Given the description of an element on the screen output the (x, y) to click on. 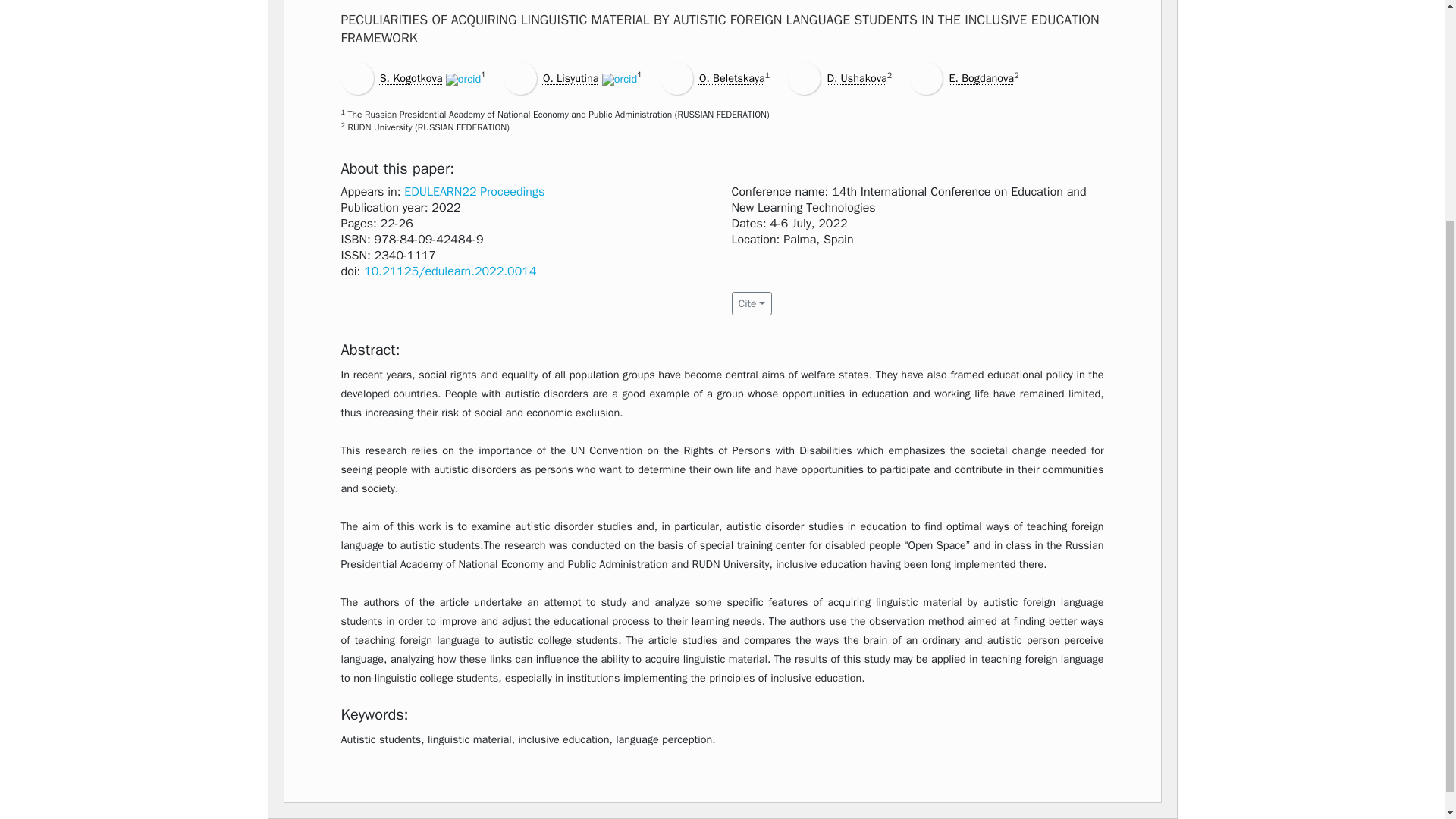
E. Bogdanova (981, 78)
orcid:0000-0002-8890-1350 (619, 79)
orcid:0000-0002-7293-9928 (462, 79)
D. Ushakova (856, 78)
S. Kogotkova (411, 78)
O. Lisyutina (570, 78)
doi (449, 271)
O. Beletskaya (731, 78)
EDULEARN22 Proceedings (474, 191)
Cite (750, 303)
